Given the description of an element on the screen output the (x, y) to click on. 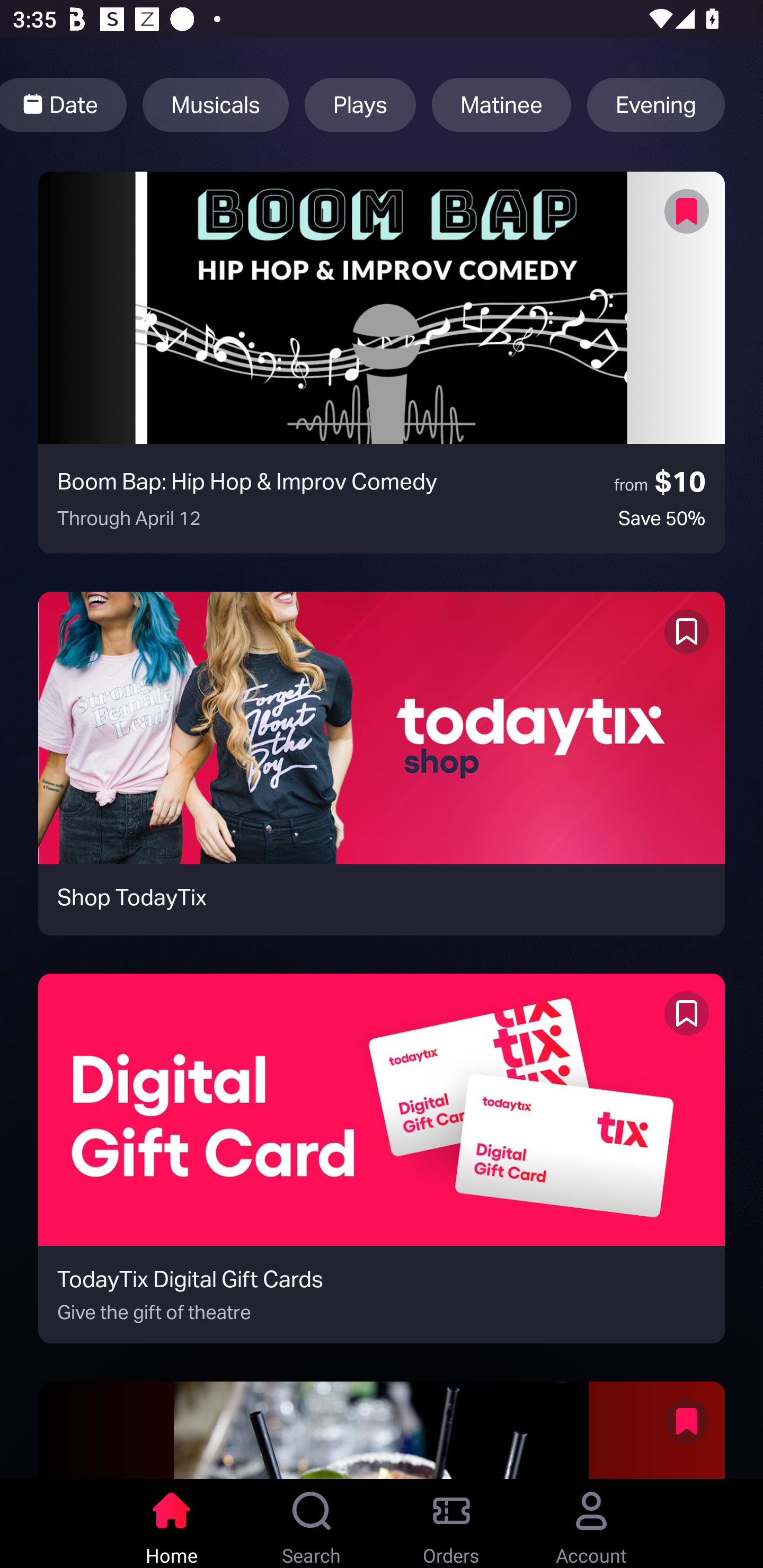
Date (63, 104)
Musicals (215, 104)
Plays (359, 104)
Matinee (501, 104)
Evening (655, 104)
Shop TodayTix (381, 763)
Search (311, 1523)
Orders (451, 1523)
Account (591, 1523)
